Given the description of an element on the screen output the (x, y) to click on. 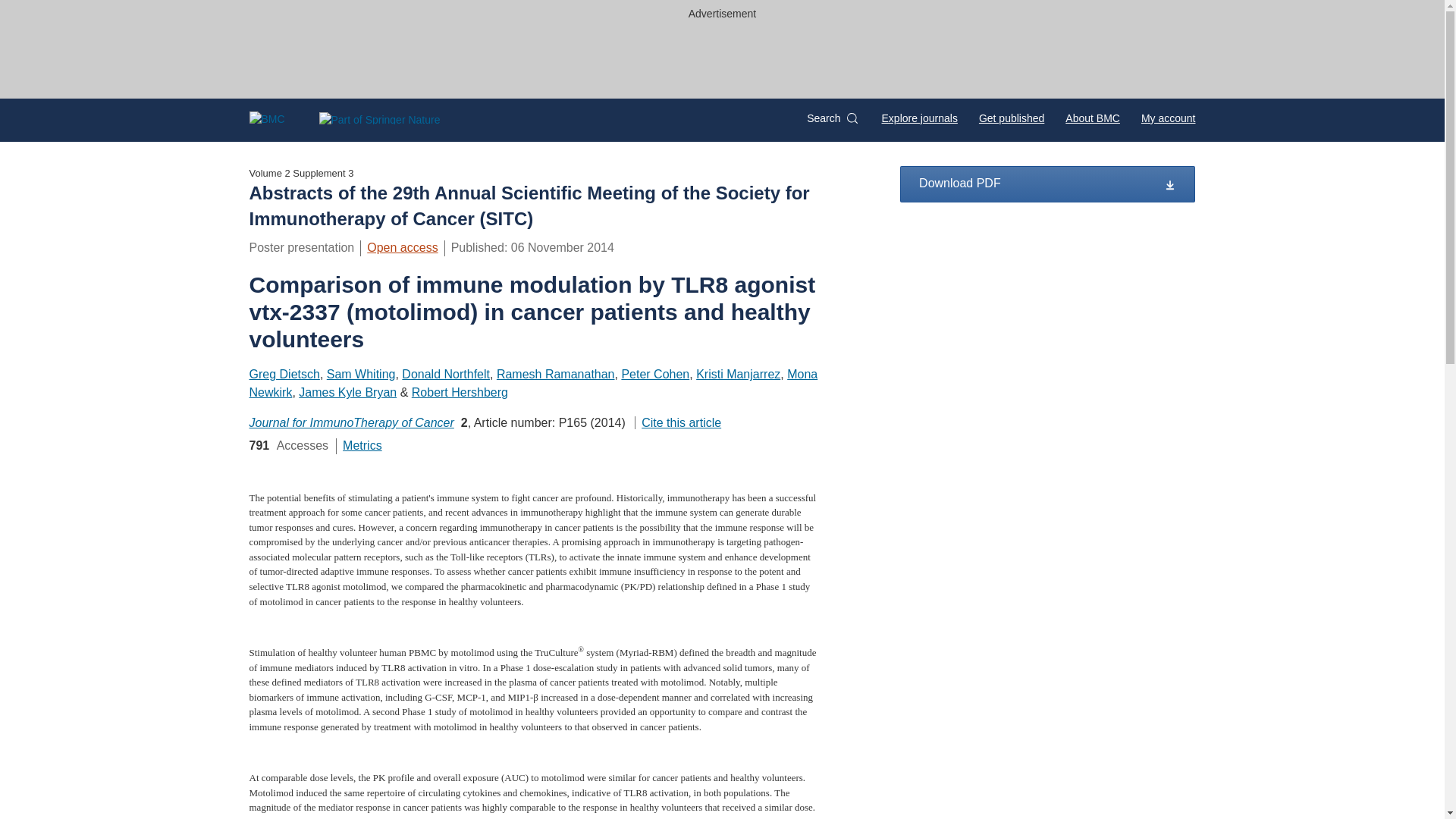
Ramesh Ramanathan (555, 373)
Mona Newkirk (532, 382)
About BMC (1092, 118)
Metrics (361, 445)
Open access (402, 246)
My account (1168, 118)
Journal for ImmunoTherapy of Cancer (350, 422)
Search (831, 118)
Cite this article (677, 422)
Greg Dietsch (283, 373)
